Given the description of an element on the screen output the (x, y) to click on. 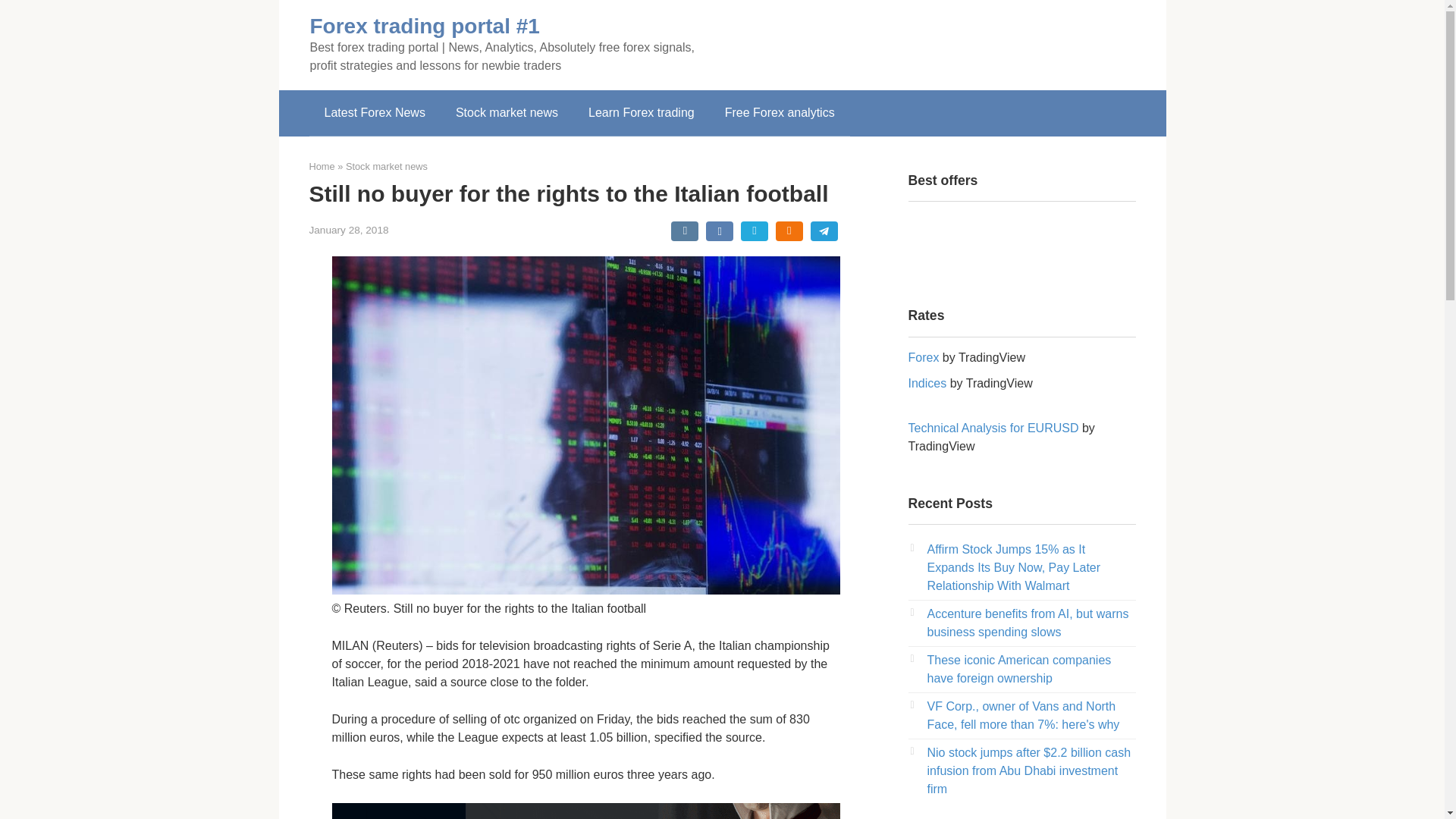
Technical Analysis for EURUSD (993, 427)
These iconic American companies have foreign ownership (1018, 668)
Forex (923, 357)
Stock market news (507, 112)
Latest Forex News (374, 112)
Learn Forex trading (641, 112)
Home (321, 165)
Indices (927, 382)
Stock market news (387, 165)
